Given the description of an element on the screen output the (x, y) to click on. 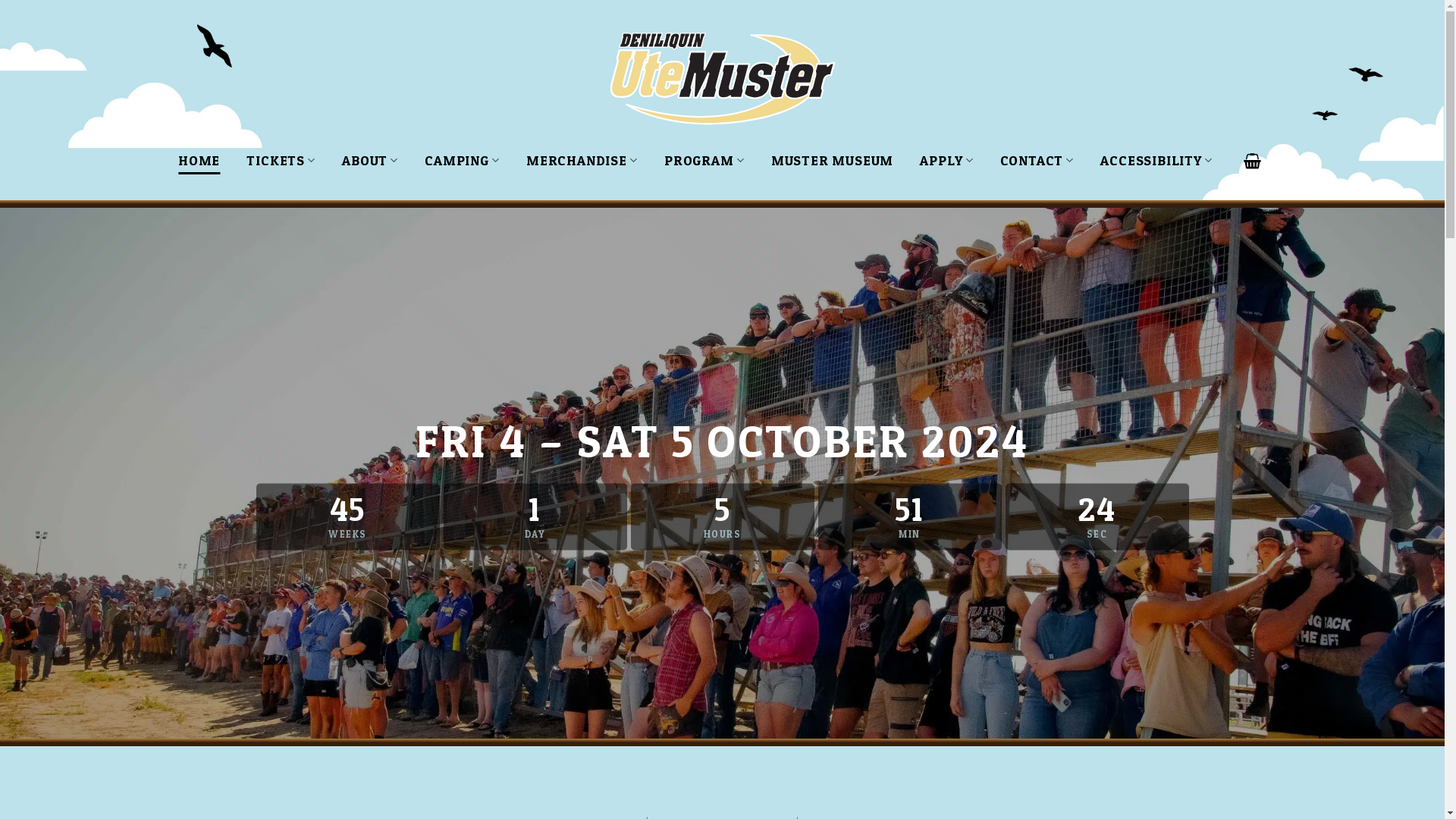
ACCESSIBILITY Element type: text (1155, 160)
HOME Element type: text (198, 160)
APPLY Element type: text (945, 160)
MERCHANDISE Element type: text (581, 160)
Cart Element type: hover (1252, 160)
CAMPING Element type: text (461, 160)
Deni Ute Muster Element type: hover (721, 79)
Skip to content Element type: text (0, 0)
CONTACT Element type: text (1037, 160)
MUSTER MUSEUM Element type: text (832, 160)
PROGRAM Element type: text (704, 160)
TICKETS Element type: text (280, 160)
ABOUT Element type: text (370, 160)
